Given the description of an element on the screen output the (x, y) to click on. 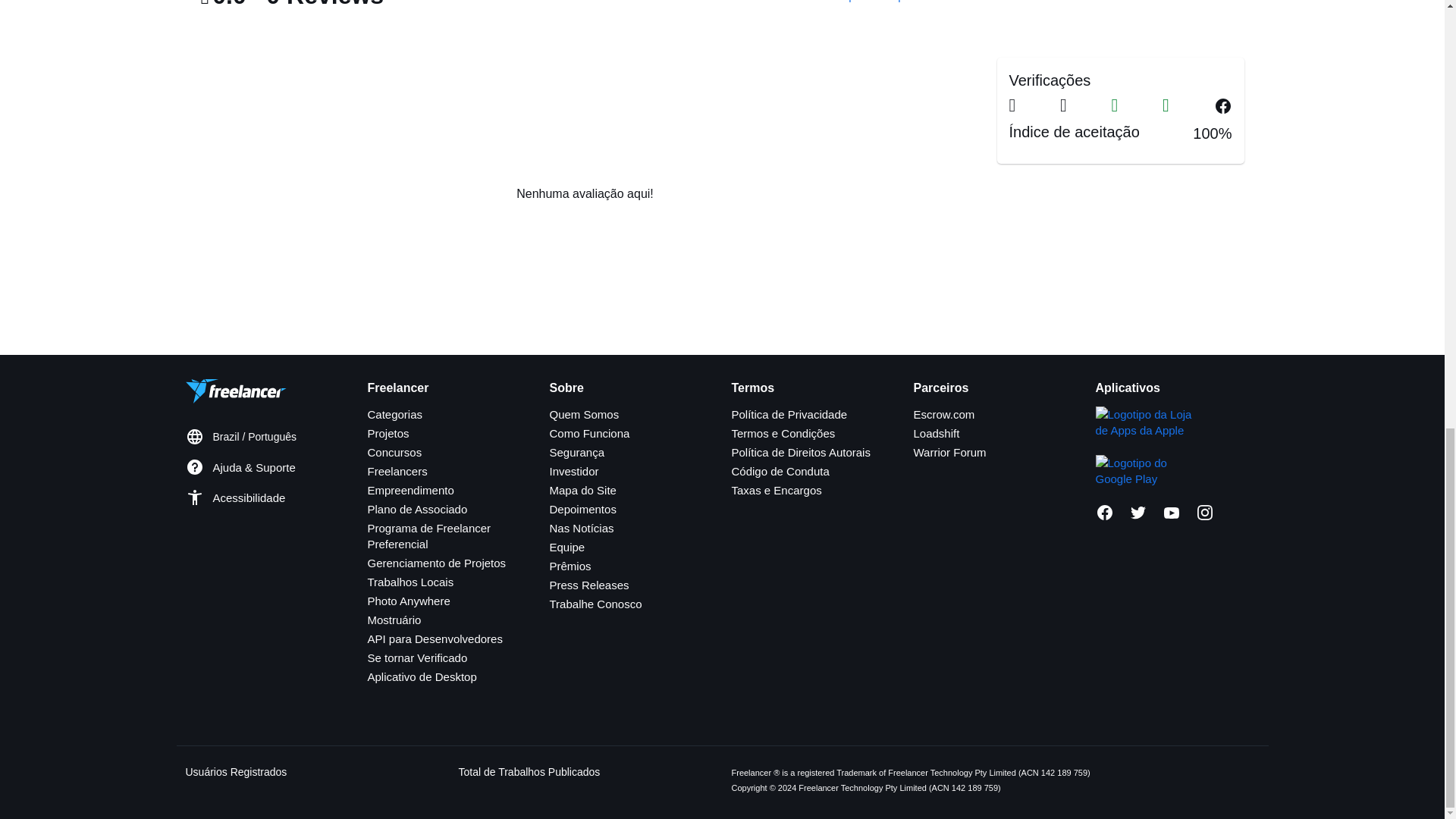
YouTube (1170, 512)
Twitter (1137, 512)
Categorias (394, 413)
Projetos (387, 432)
Plano de Associado (416, 508)
Facebook (1103, 512)
Ver o perfil completo de rinths (893, 1)
Programa de Freelancer Preferencial (428, 535)
Instagram (1203, 512)
Freelancers (396, 471)
